Given the description of an element on the screen output the (x, y) to click on. 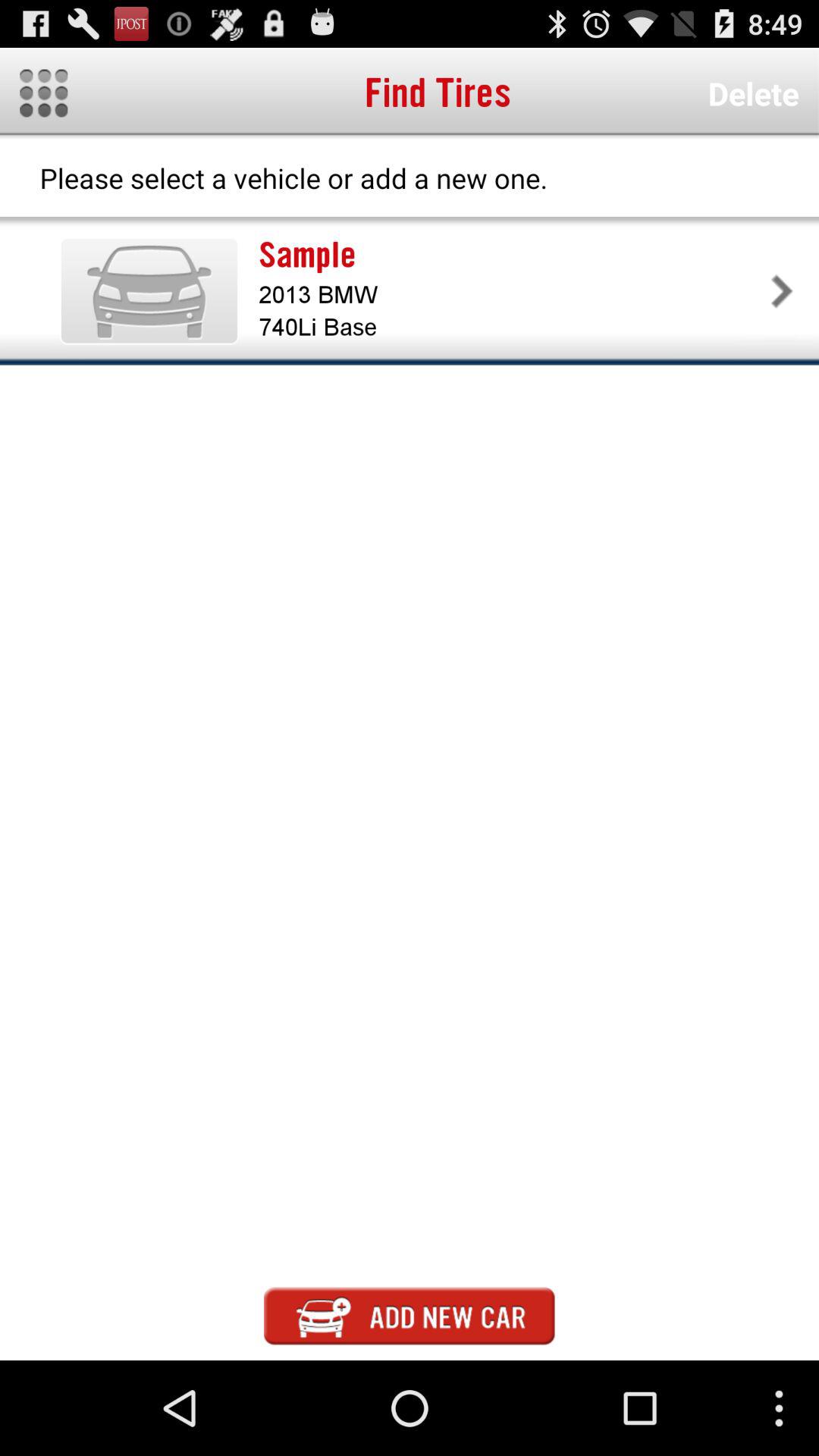
add new car option (409, 1316)
